Given the description of an element on the screen output the (x, y) to click on. 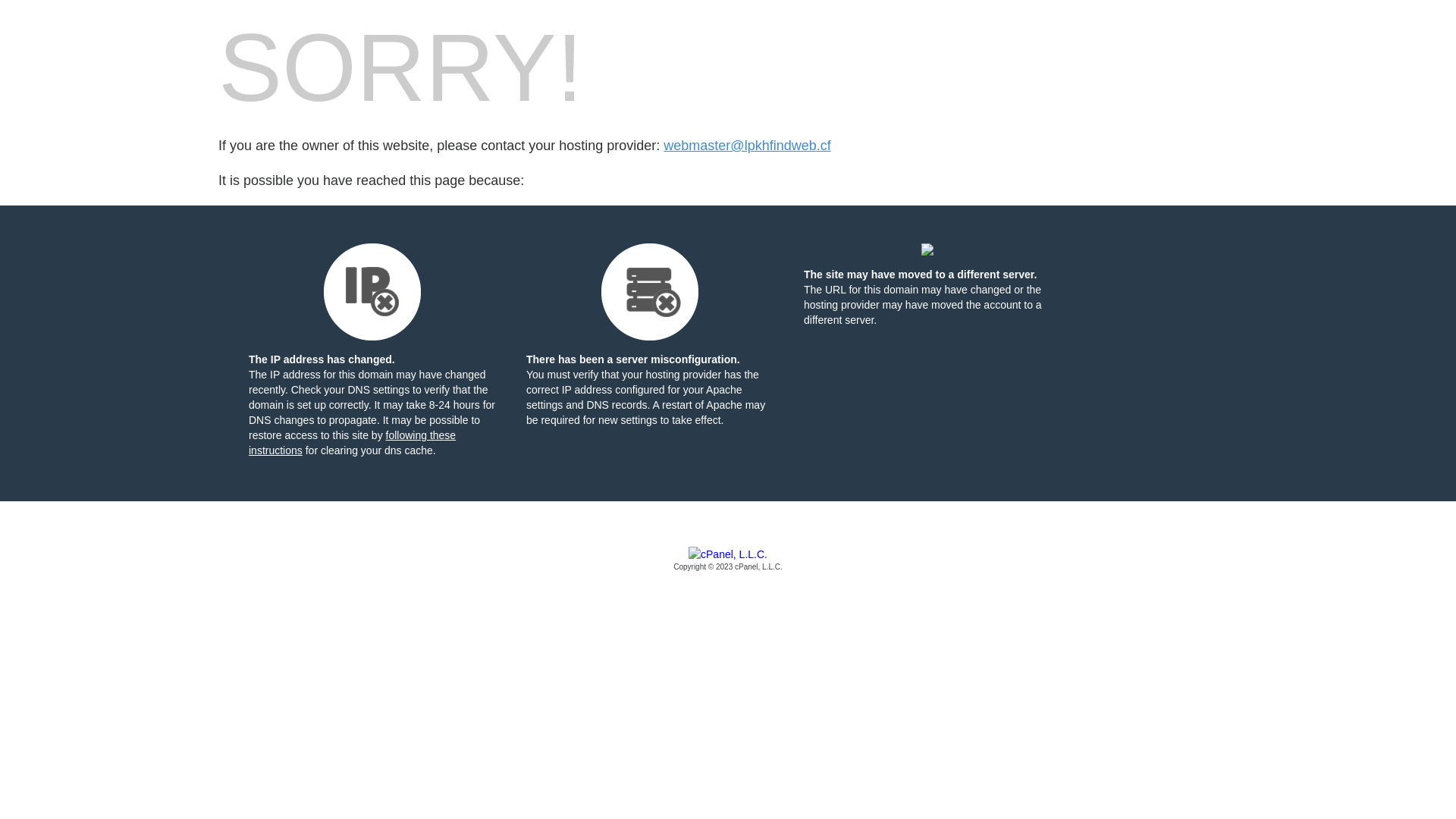
webmaster@lpkhfindweb.cf Element type: text (746, 145)
following these instructions Element type: text (351, 442)
